Given the description of an element on the screen output the (x, y) to click on. 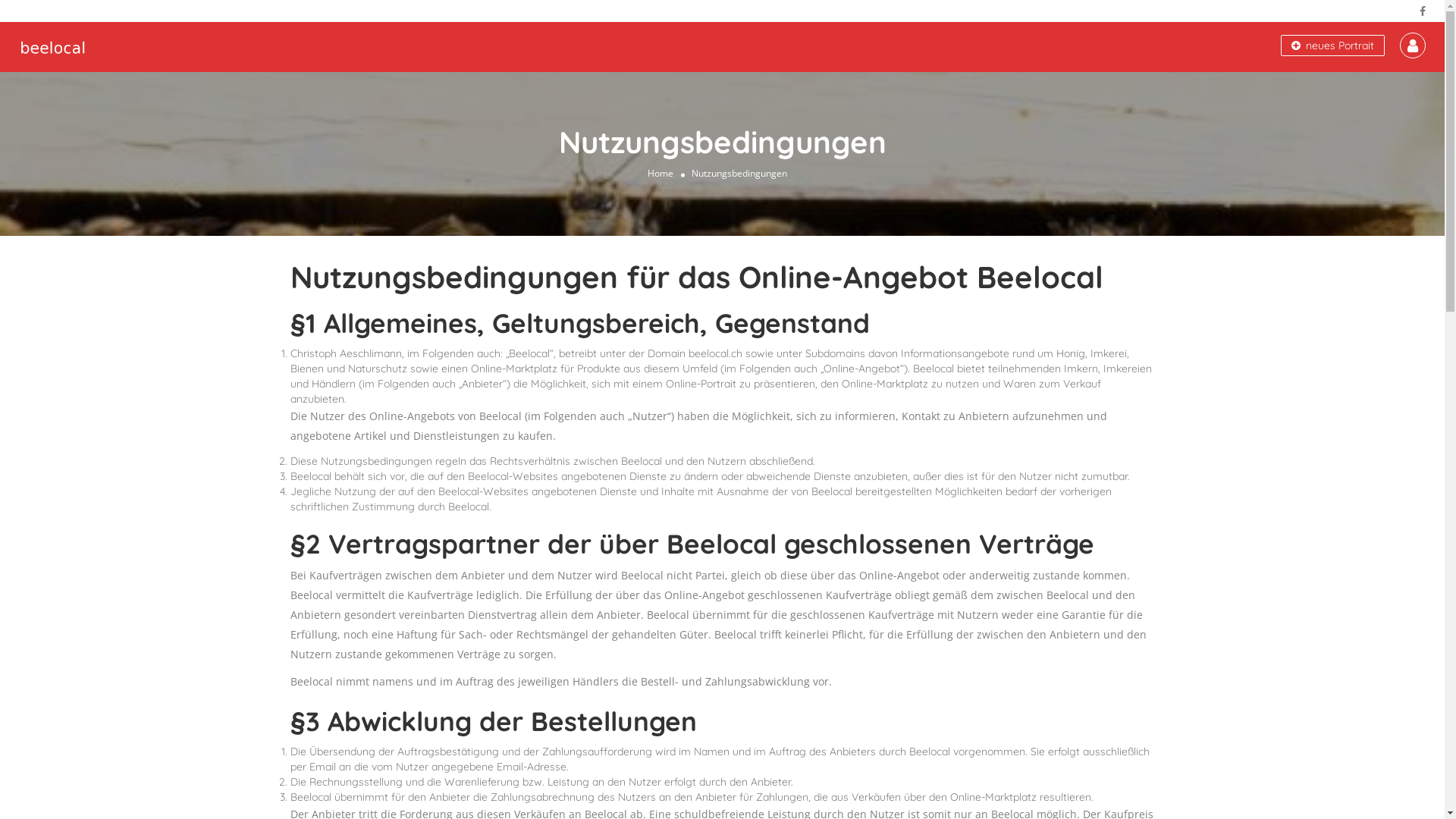
Anmelden Element type: text (721, 464)
Home Element type: text (660, 172)
neues Portrait Element type: text (1332, 45)
